Given the description of an element on the screen output the (x, y) to click on. 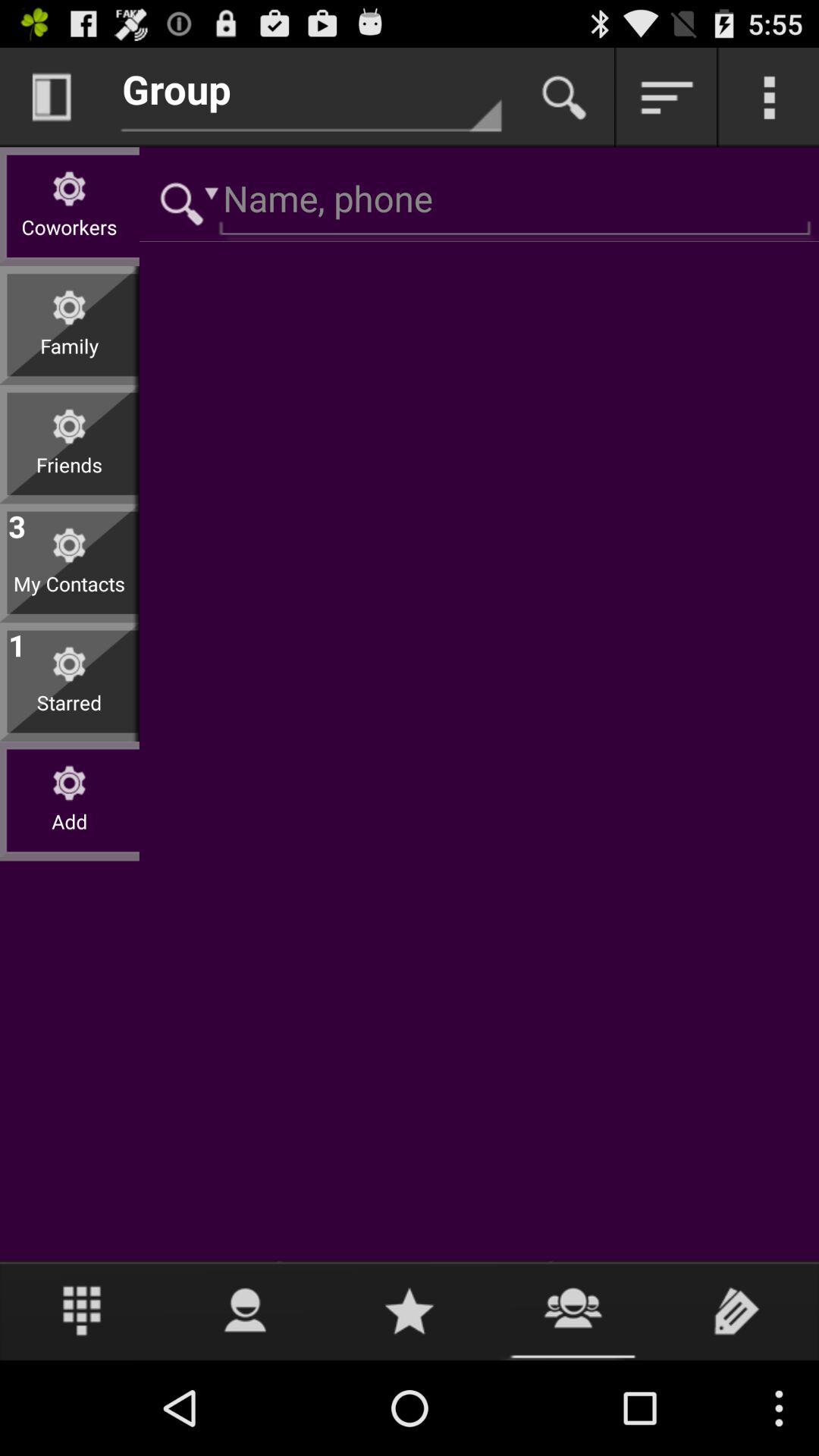
open the app below the my contacts (16, 642)
